Given the description of an element on the screen output the (x, y) to click on. 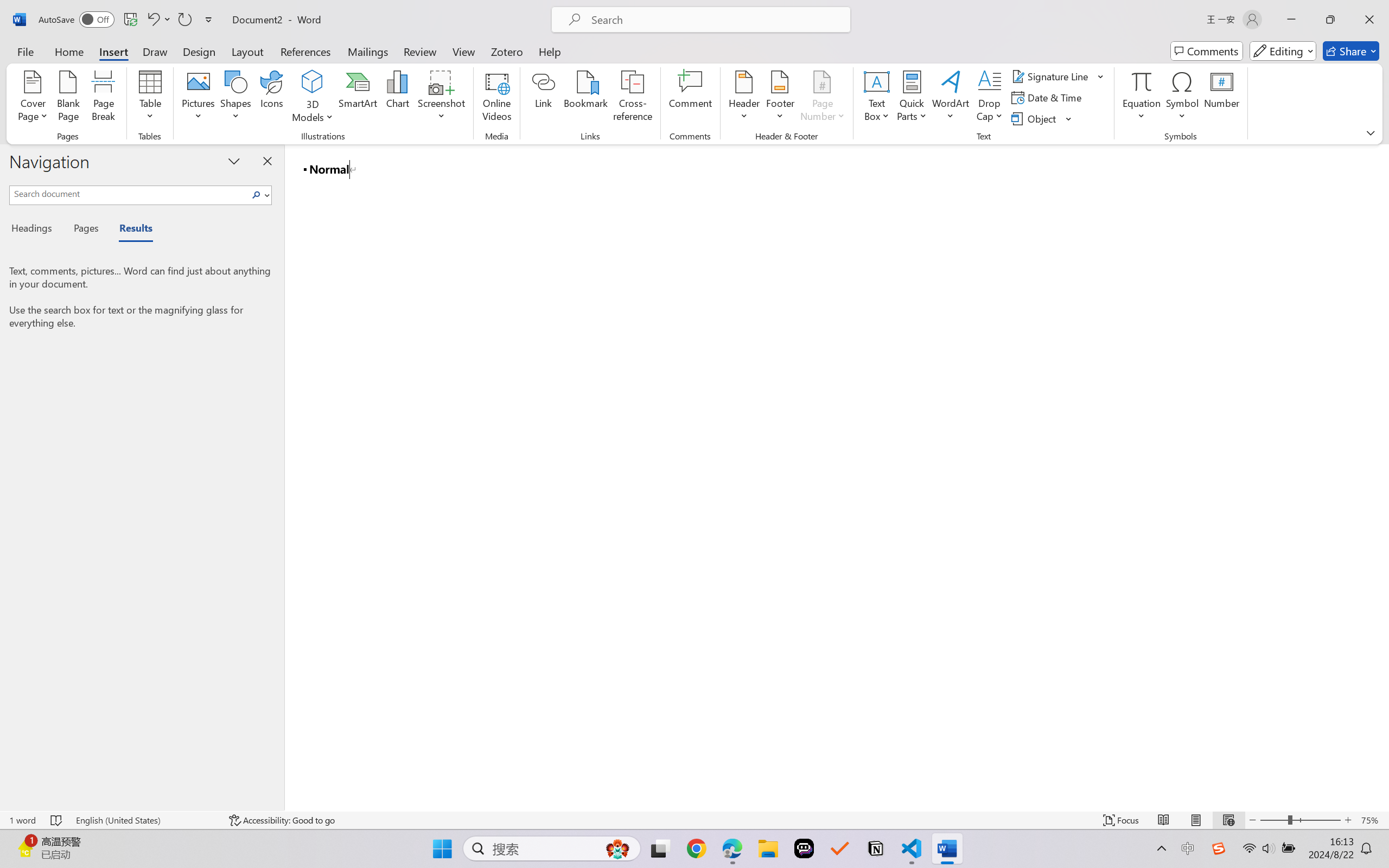
Search (256, 194)
Signature Line (1058, 75)
Signature Line (1051, 75)
WordArt (950, 97)
Header (743, 97)
Blank Page (67, 97)
Headings (35, 229)
Cover Page (33, 97)
Zoom (1300, 819)
